Given the description of an element on the screen output the (x, y) to click on. 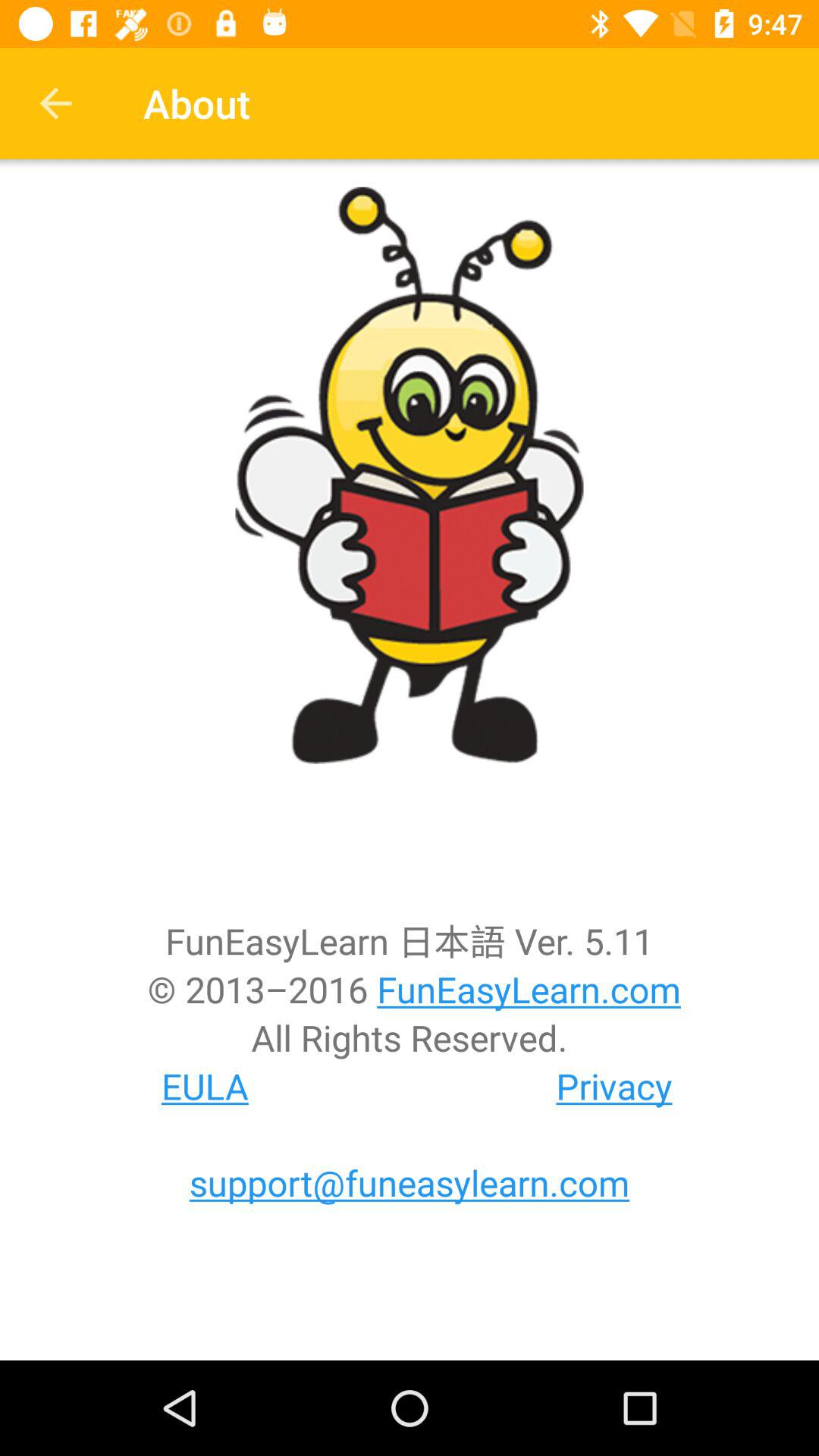
swipe to privacy icon (614, 1085)
